Given the description of an element on the screen output the (x, y) to click on. 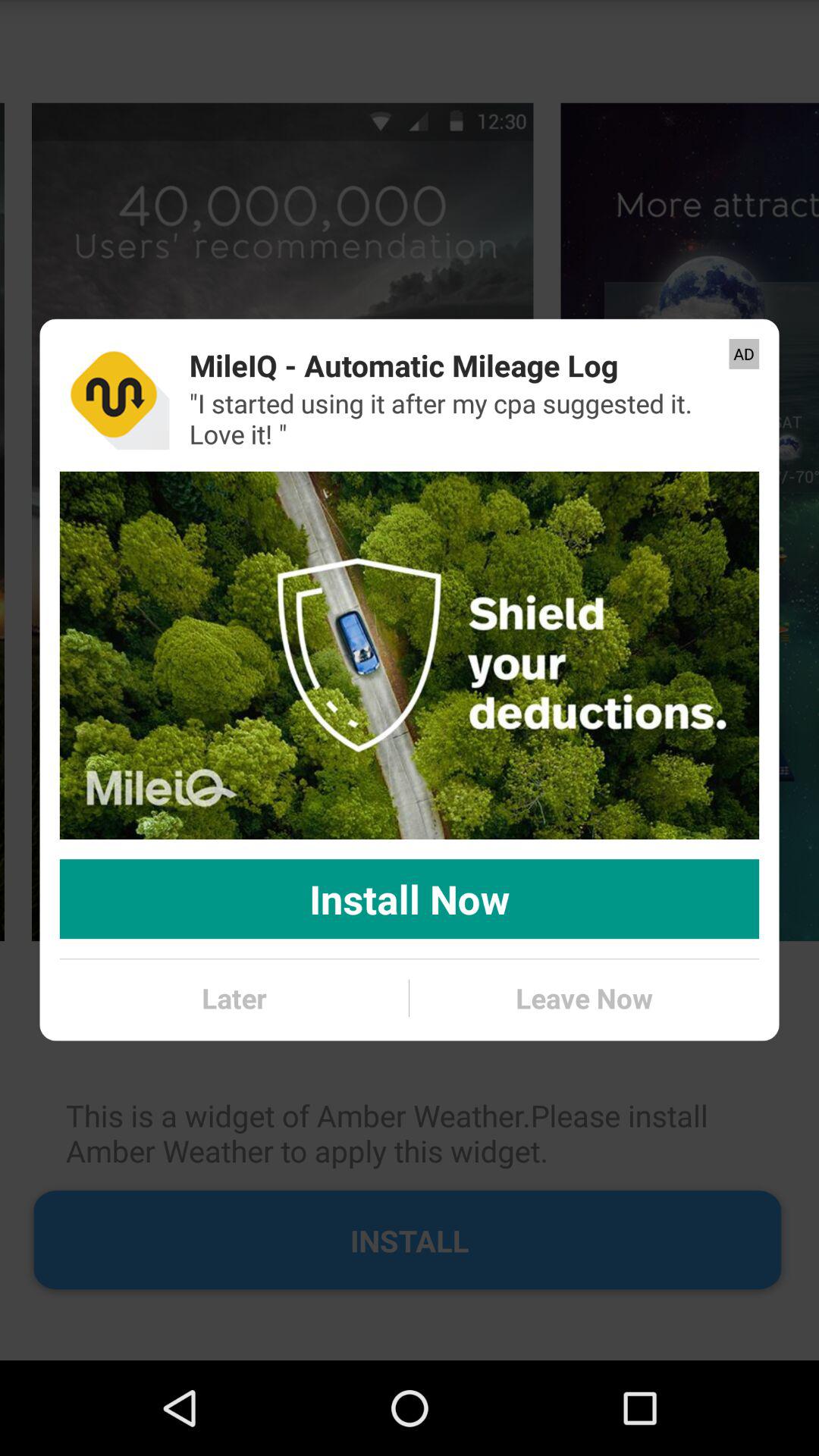
open install now app (409, 899)
